Given the description of an element on the screen output the (x, y) to click on. 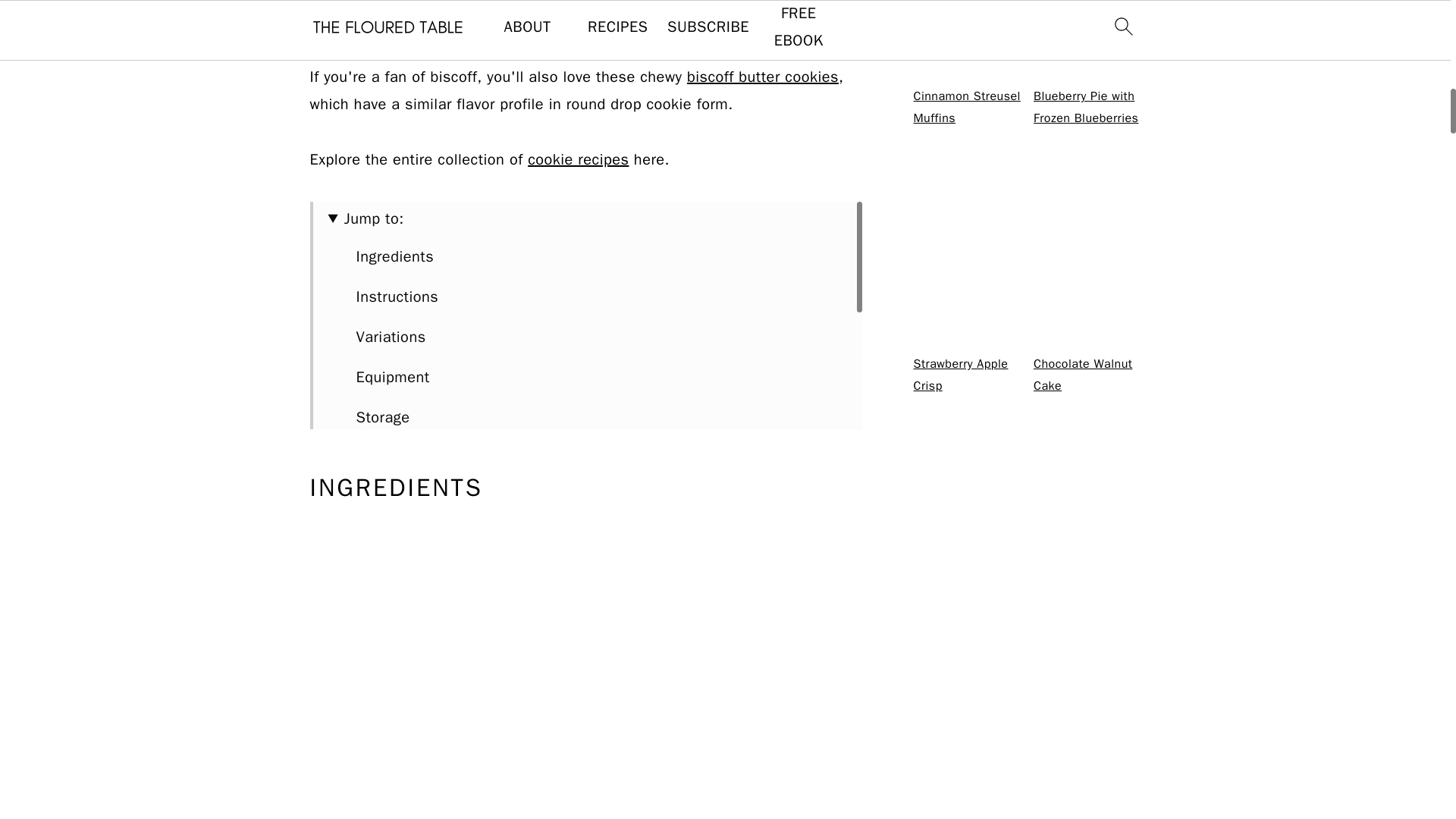
FAQ (369, 497)
Equipment (392, 376)
Ingredients (394, 256)
Variations (391, 336)
cookie recipes (577, 158)
More Bar Cookies (418, 537)
Recipe Tip (392, 456)
Storage (383, 416)
biscoff butter cookies (762, 76)
Instructions (397, 296)
